Given the description of an element on the screen output the (x, y) to click on. 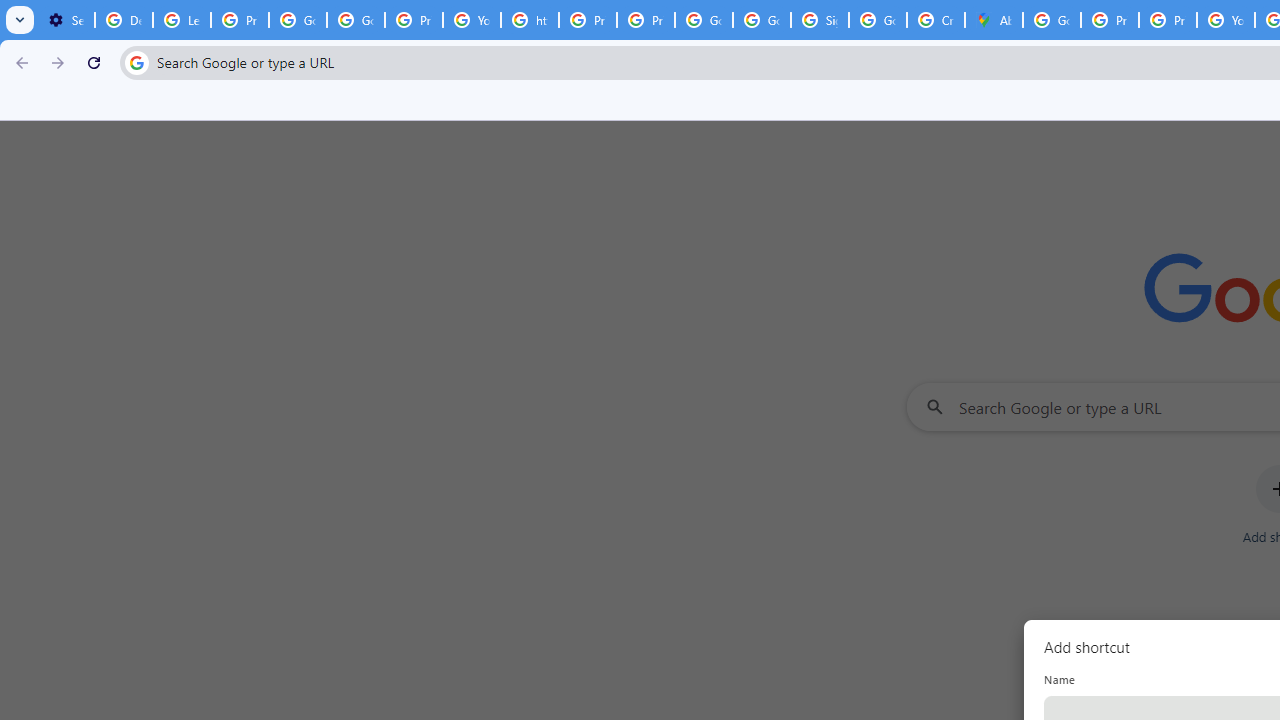
Google Account Help (297, 20)
YouTube (1225, 20)
Delete photos & videos - Computer - Google Photos Help (123, 20)
Privacy Help Center - Policies Help (1110, 20)
YouTube (471, 20)
